Given the description of an element on the screen output the (x, y) to click on. 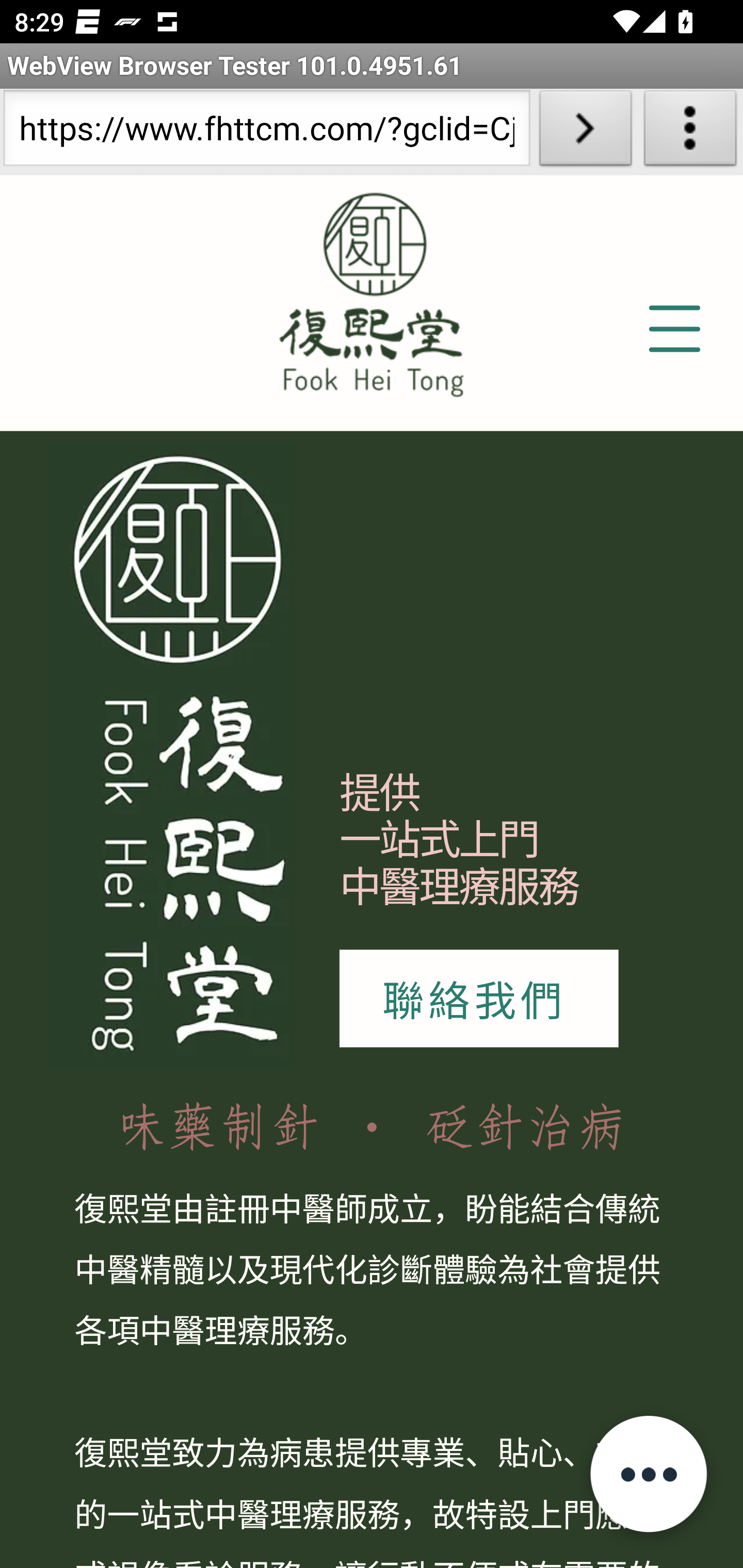
Load URL (585, 132)
About WebView (690, 132)
復熙堂 (371, 288)
Open navigation menu (673, 329)
復熙堂 (171, 756)
聯絡我們 (478, 998)
快速操作 (647, 1472)
